Given the description of an element on the screen output the (x, y) to click on. 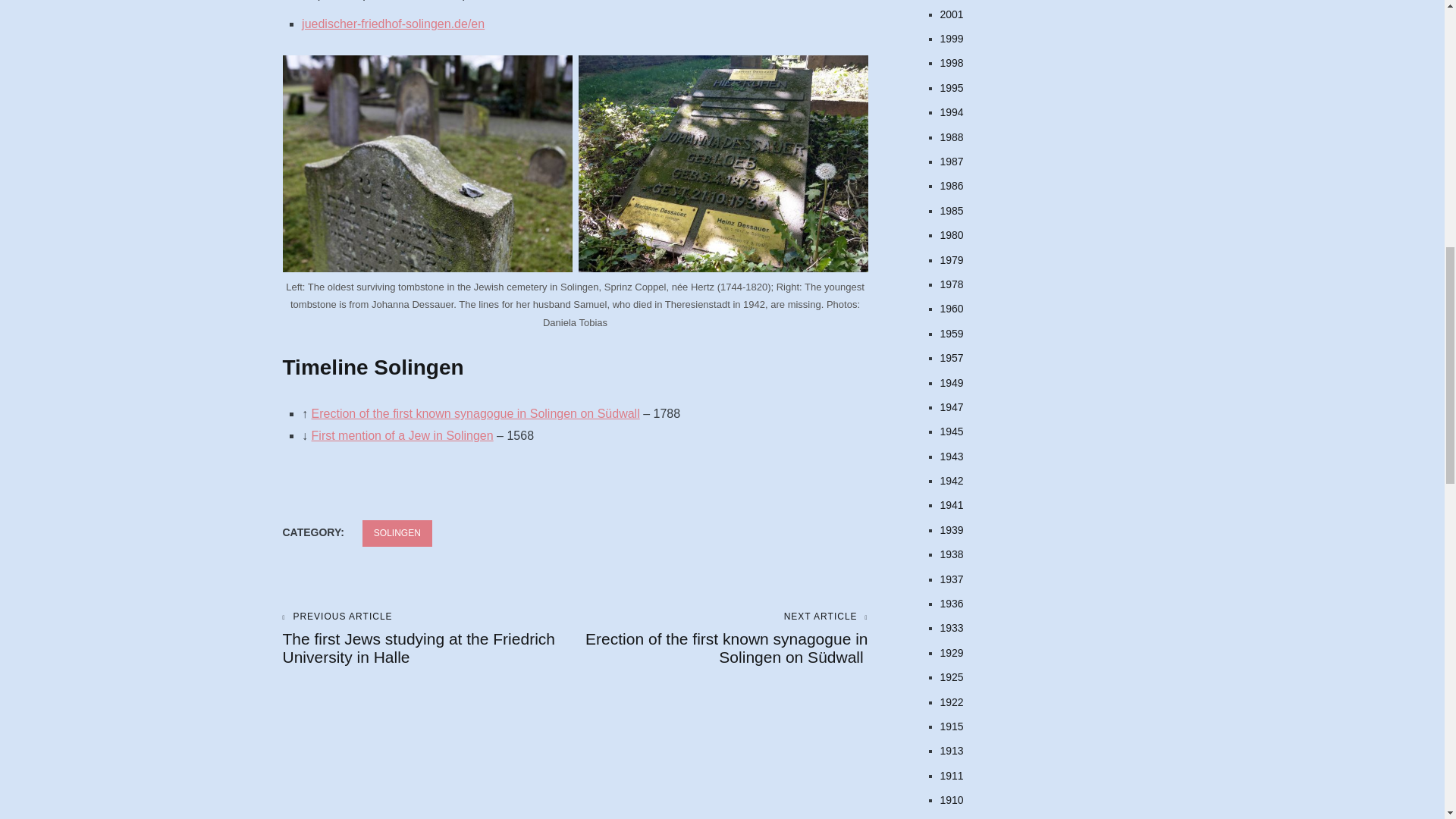
SOLINGEN (397, 533)
First mention of a Jew in Solingen (402, 435)
